Given the description of an element on the screen output the (x, y) to click on. 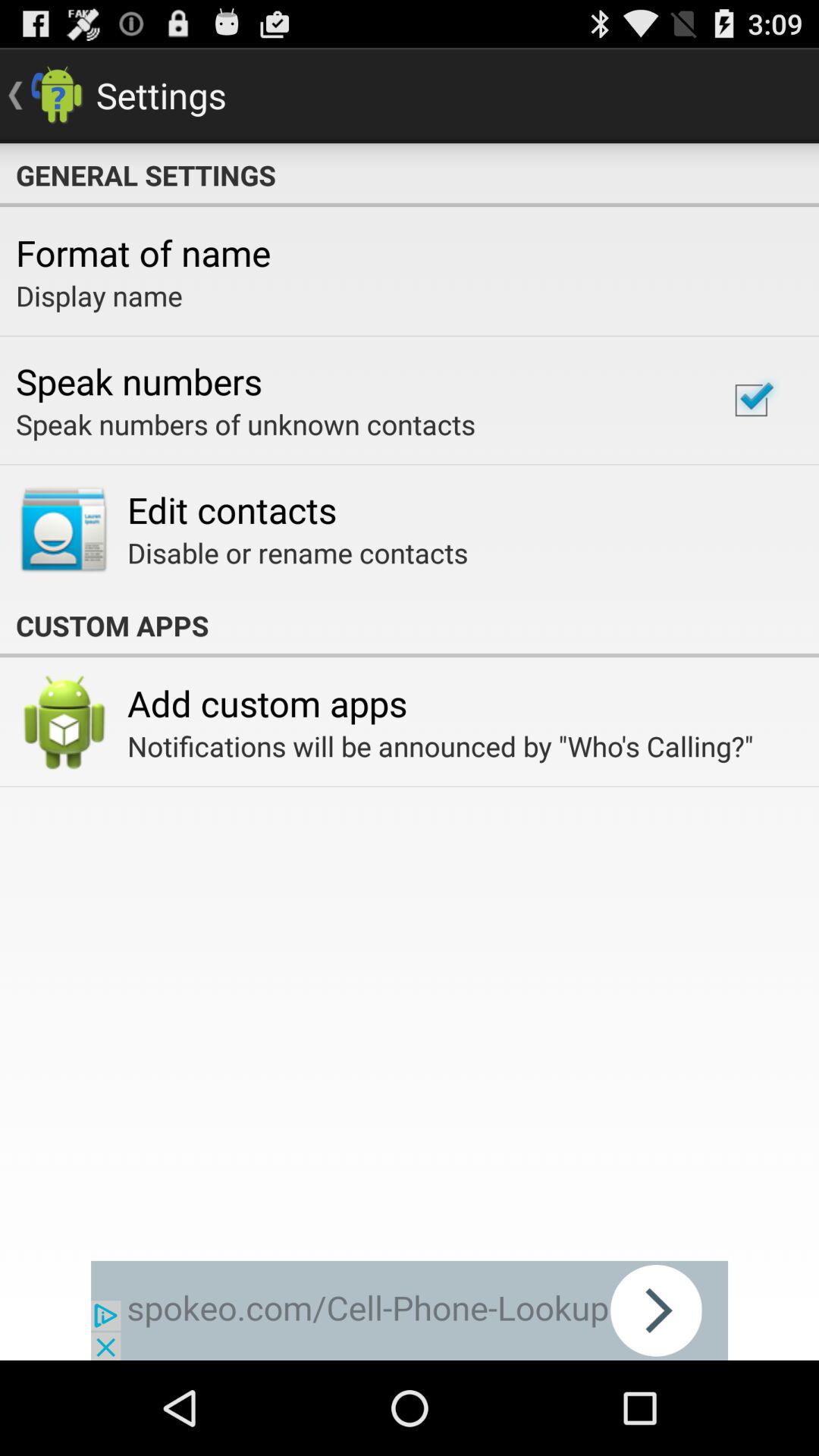
advertisement (409, 1310)
